Given the description of an element on the screen output the (x, y) to click on. 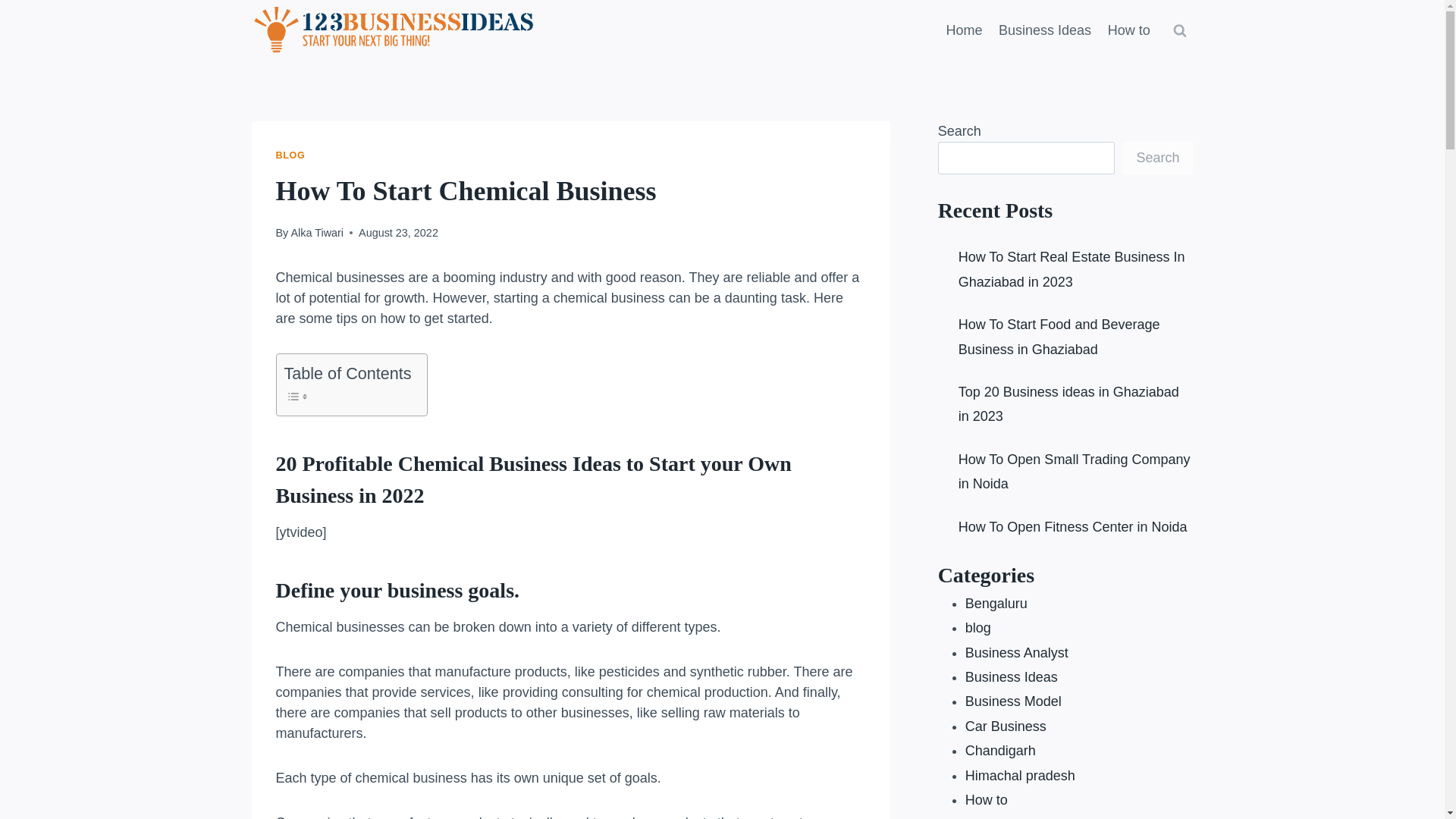
Business Ideas (1044, 30)
Alka Tiwari (316, 232)
How to (1128, 30)
BLOG (290, 154)
Home (964, 30)
